Given the description of an element on the screen output the (x, y) to click on. 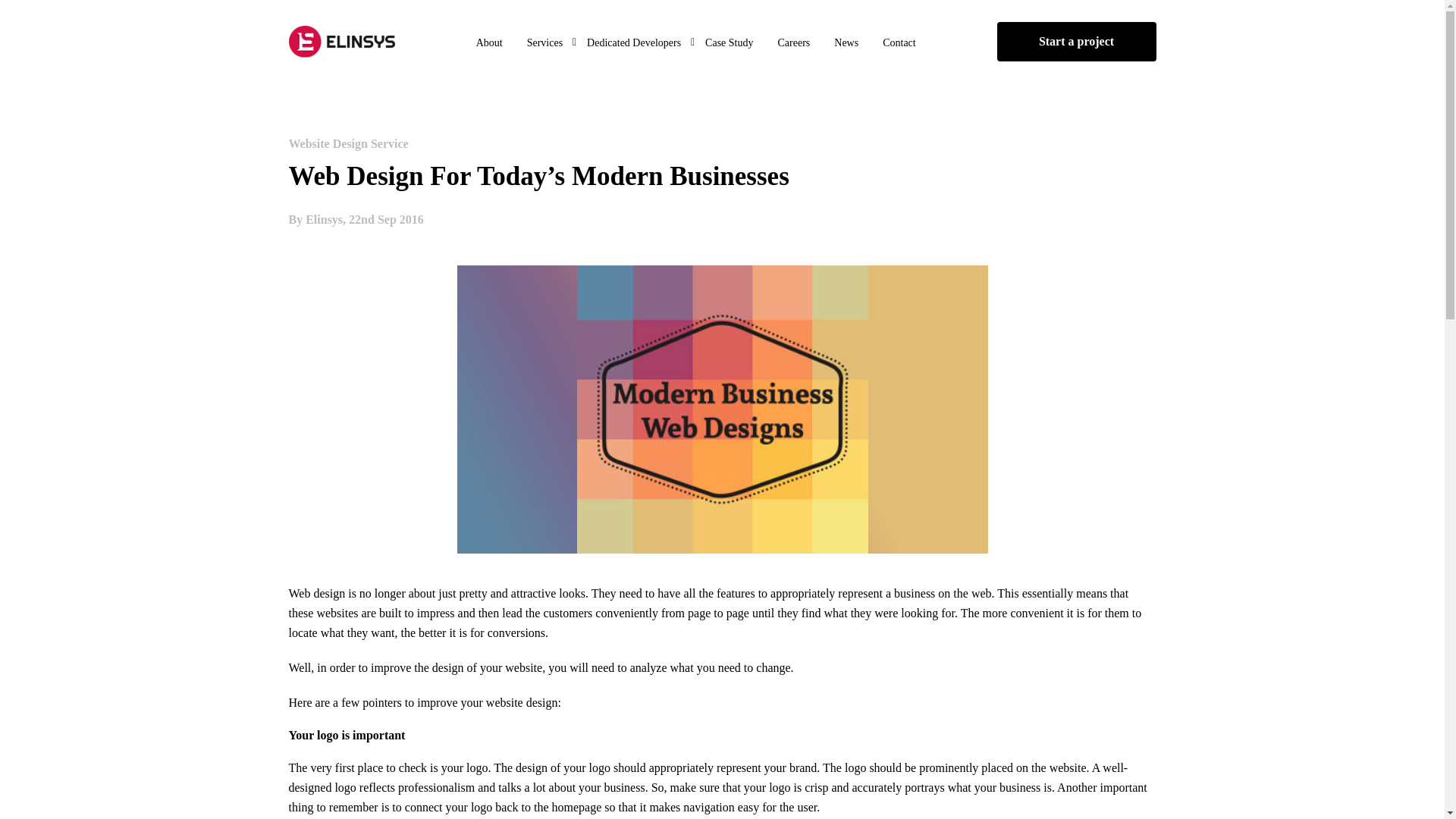
About (489, 44)
Start a project (1075, 41)
Case Study (729, 44)
Careers (793, 44)
Contact (899, 44)
News (845, 44)
Services (544, 44)
Dedicated Developers (633, 44)
